Given the description of an element on the screen output the (x, y) to click on. 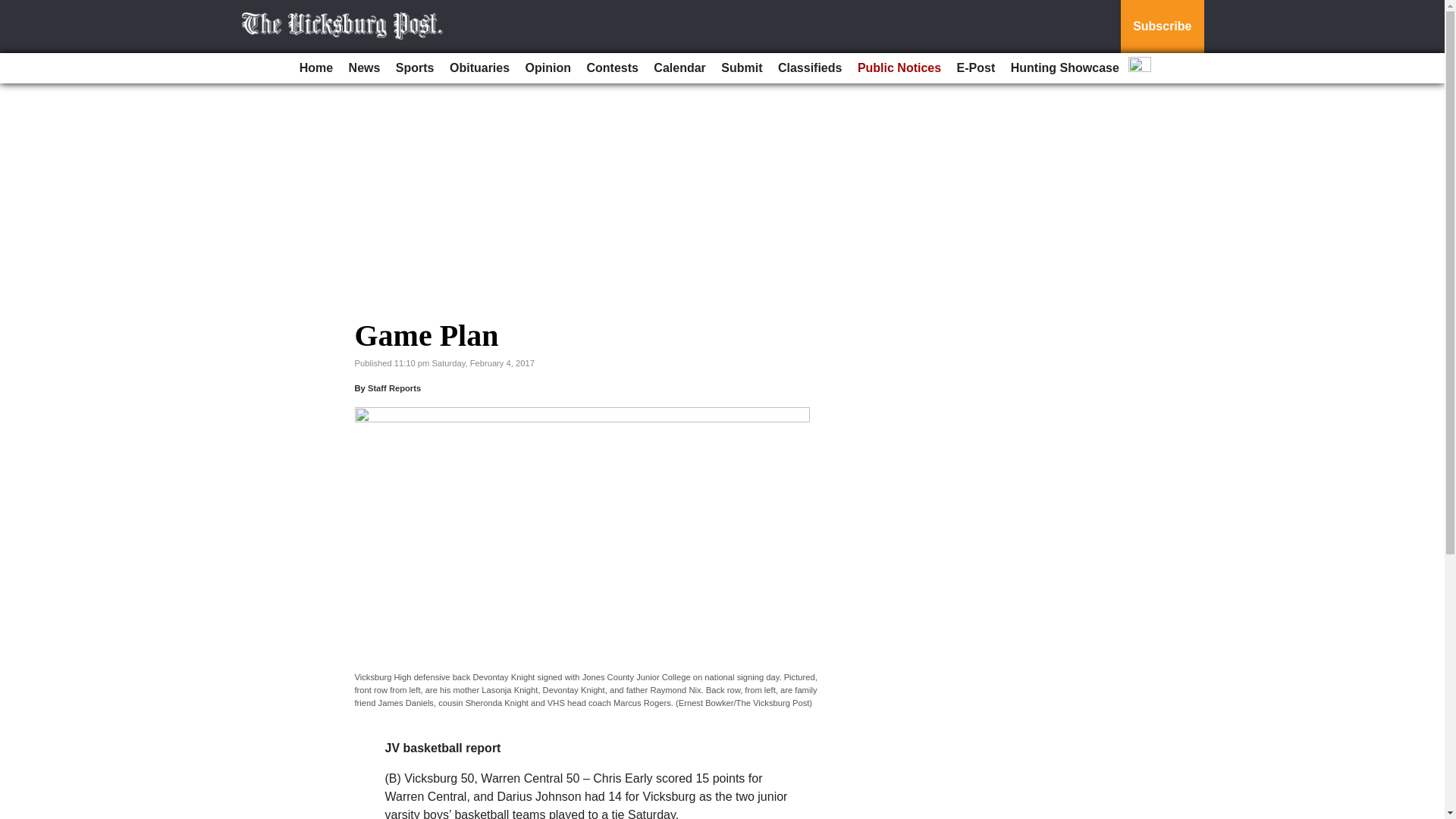
Home (316, 68)
Calendar (679, 68)
Opinion (547, 68)
Sports (415, 68)
Contests (611, 68)
Subscribe (1162, 26)
News (364, 68)
Go (13, 9)
Hunting Showcase (1064, 68)
Submit (741, 68)
